Given the description of an element on the screen output the (x, y) to click on. 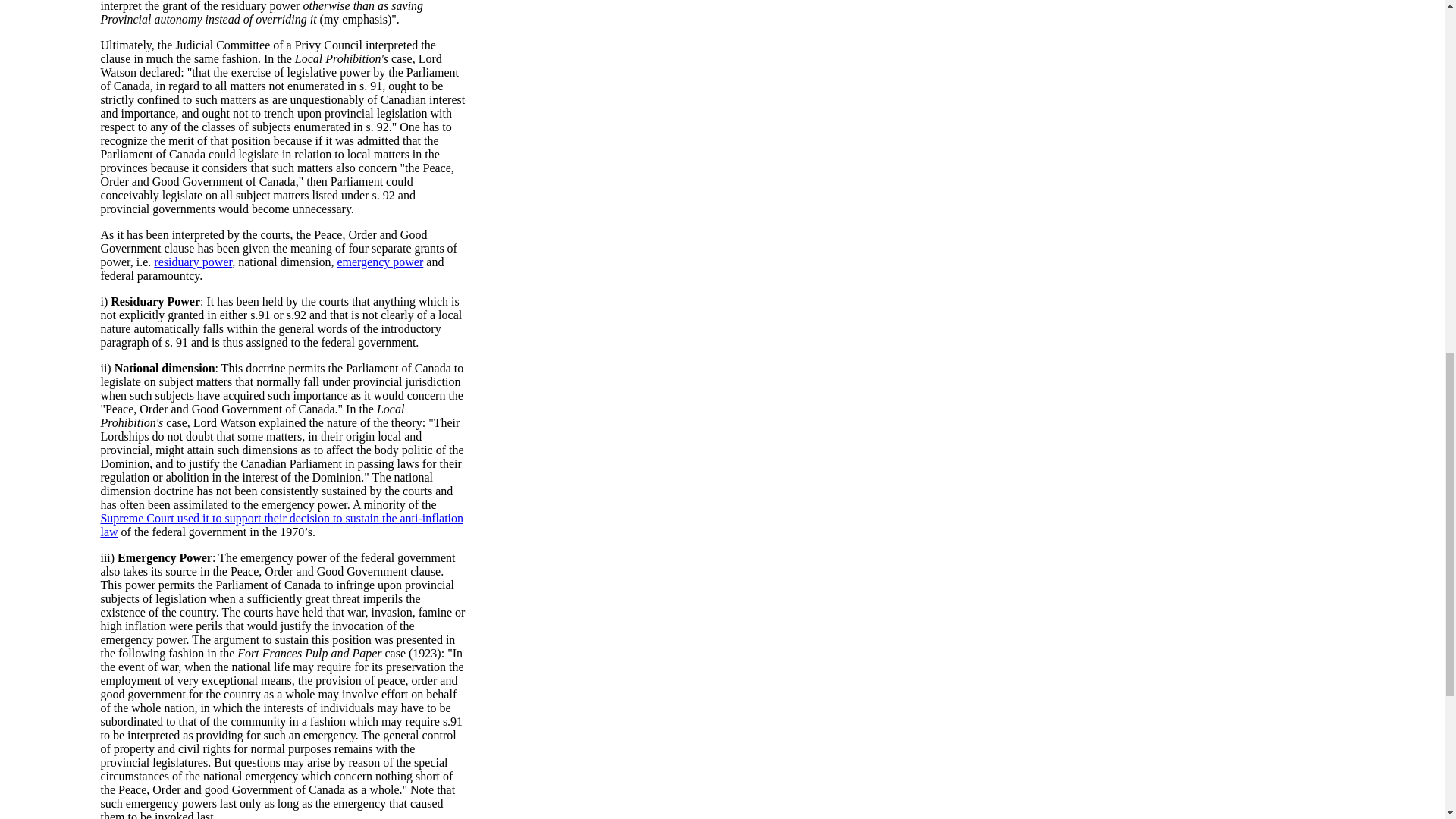
residuary power (192, 261)
emergency power (379, 261)
